Given the description of an element on the screen output the (x, y) to click on. 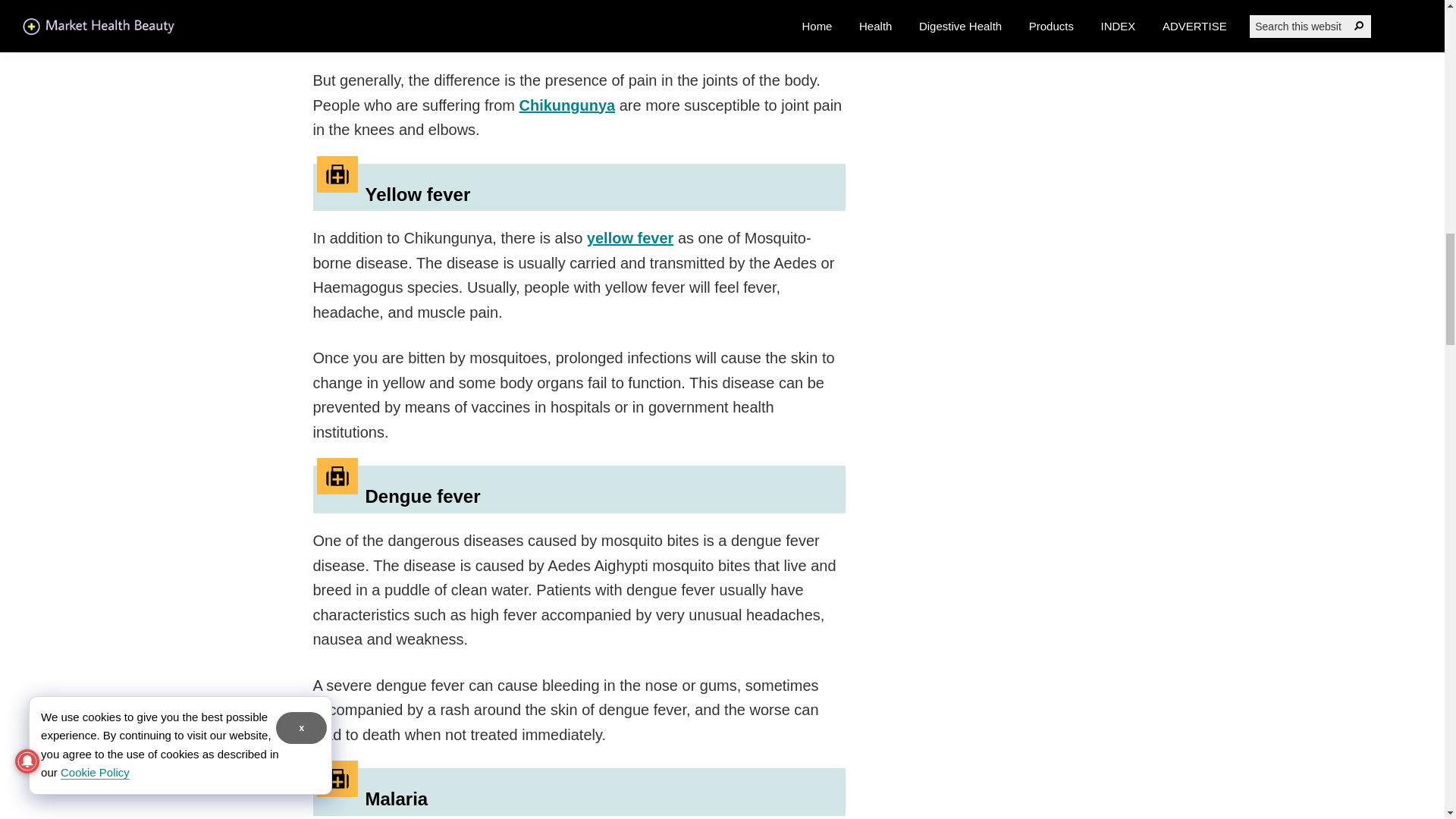
Chikungunya (567, 105)
yellow fever (630, 238)
